Given the description of an element on the screen output the (x, y) to click on. 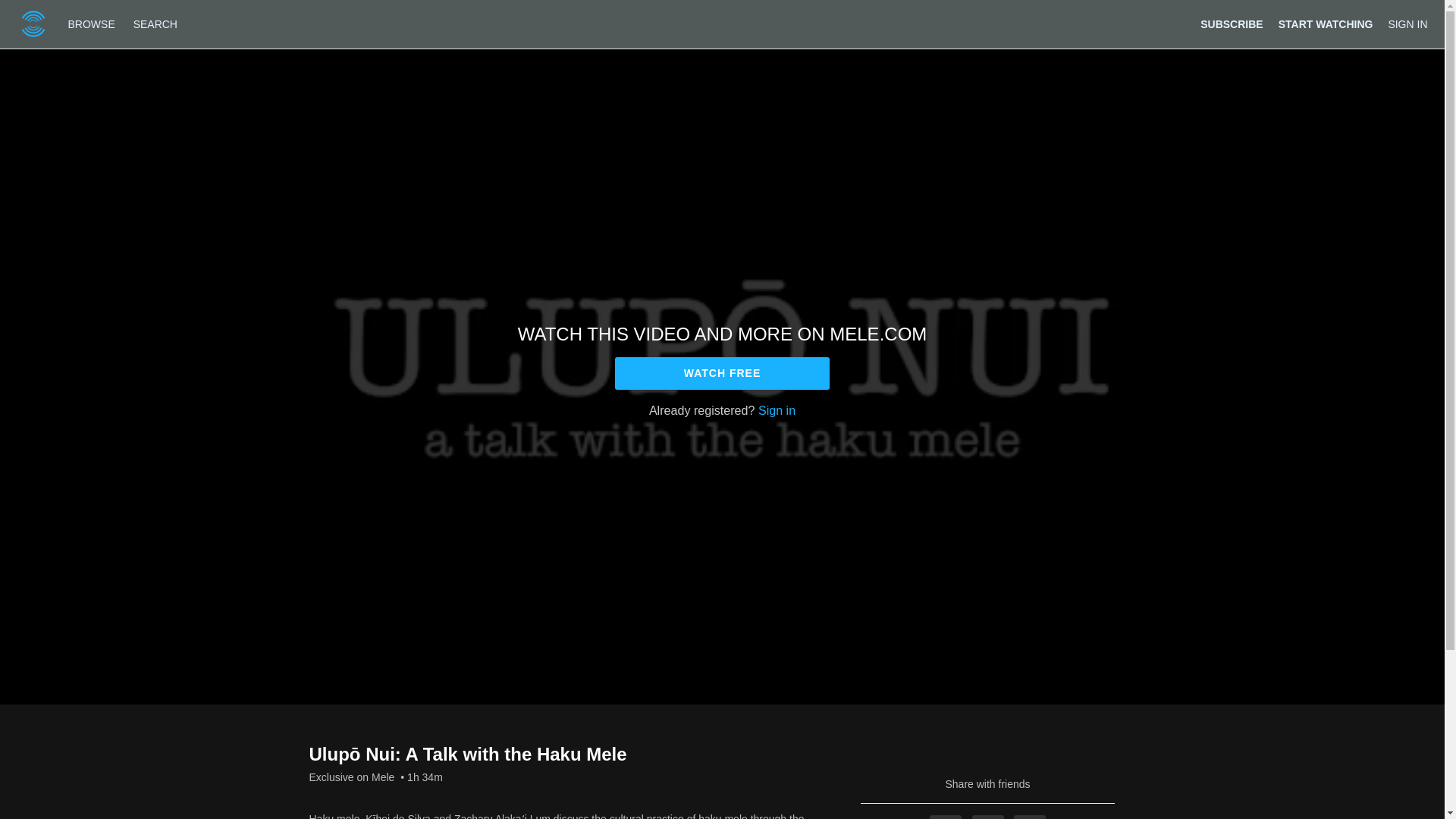
START WATCHING (1325, 24)
Exclusive on Mele (351, 776)
Twitter (988, 816)
BROWSE (93, 24)
SIGN IN (1406, 24)
SEARCH (154, 24)
Sign in (776, 409)
WATCH FREE (721, 373)
SUBSCRIBE (1230, 24)
Email (1029, 816)
Facebook (945, 816)
Skip to main content (48, 7)
